Given the description of an element on the screen output the (x, y) to click on. 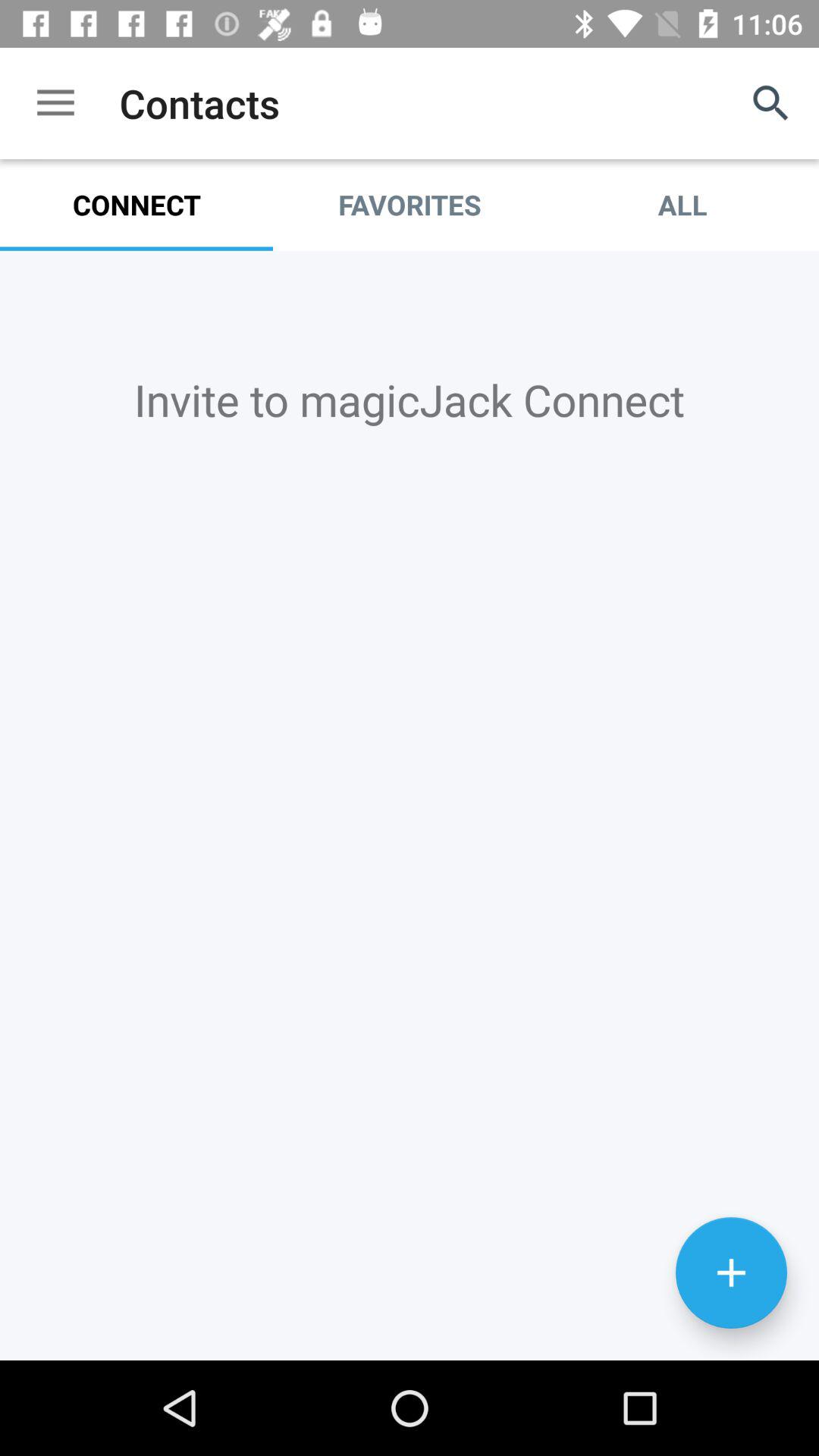
open the item next to the connect icon (409, 204)
